Given the description of an element on the screen output the (x, y) to click on. 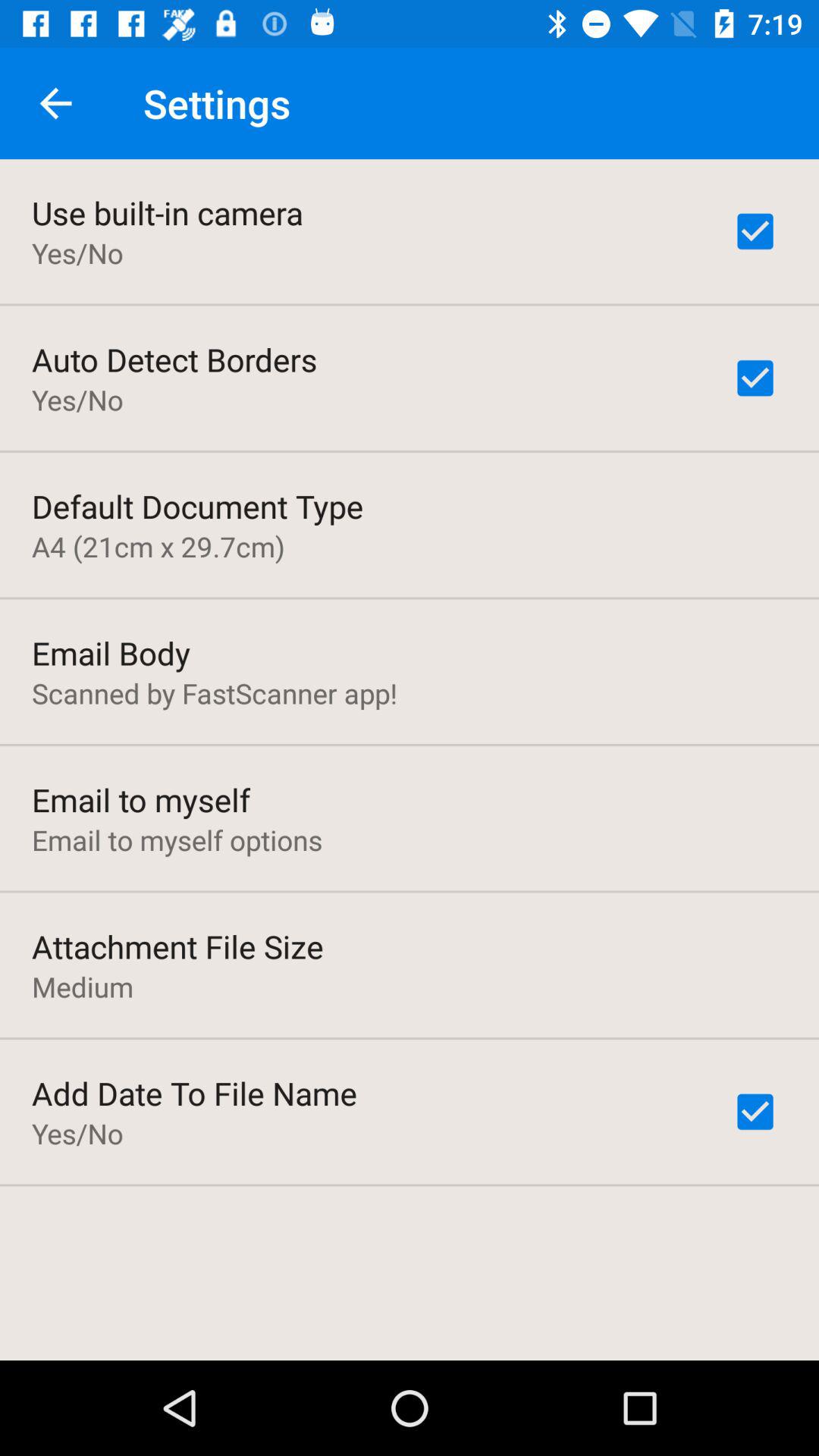
open the item below medium (194, 1092)
